Given the description of an element on the screen output the (x, y) to click on. 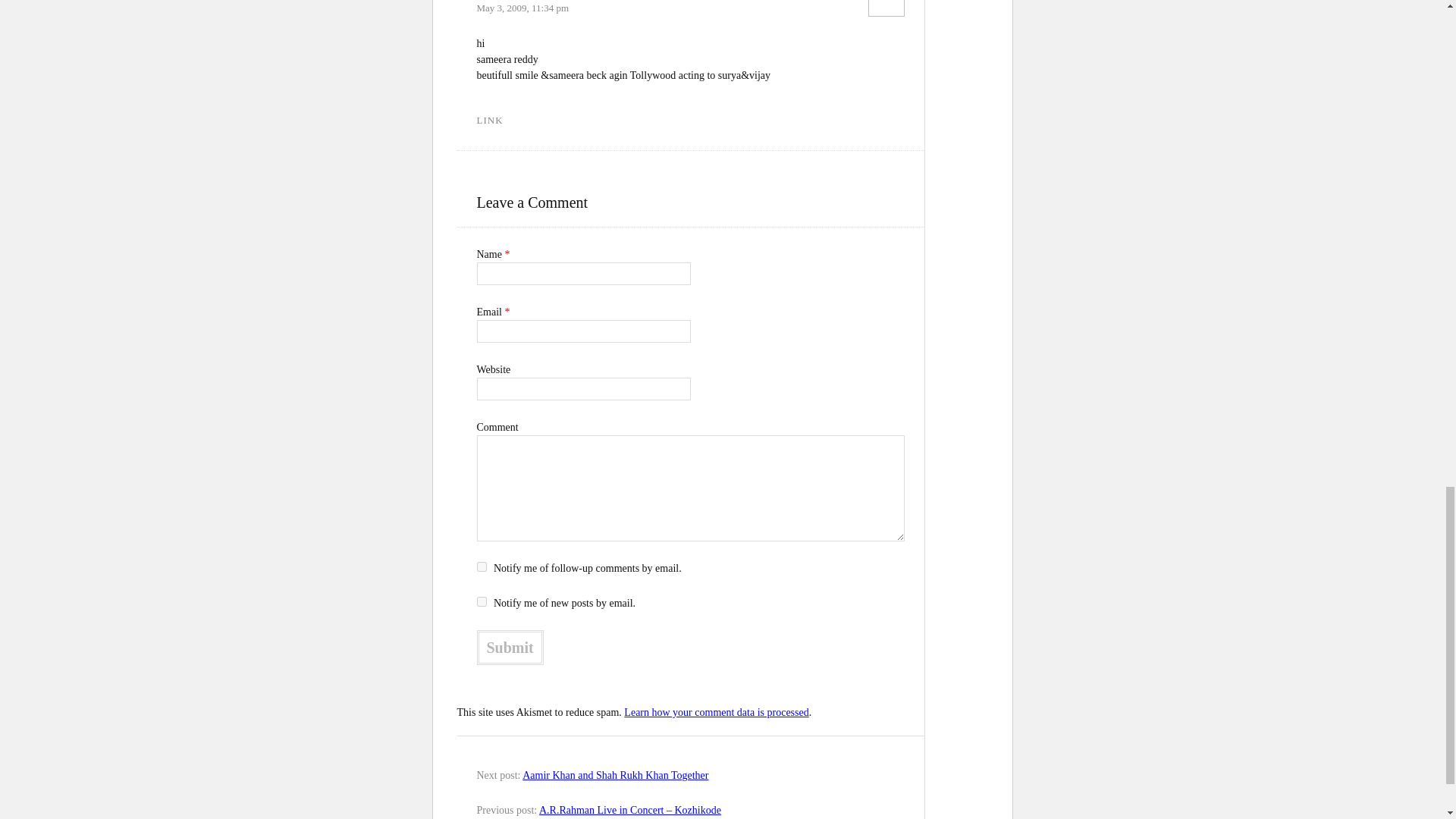
subscribe (481, 566)
Submit (509, 647)
LINK (489, 120)
Submit (509, 647)
permalink to this comment (489, 120)
subscribe (481, 601)
